Given the description of an element on the screen output the (x, y) to click on. 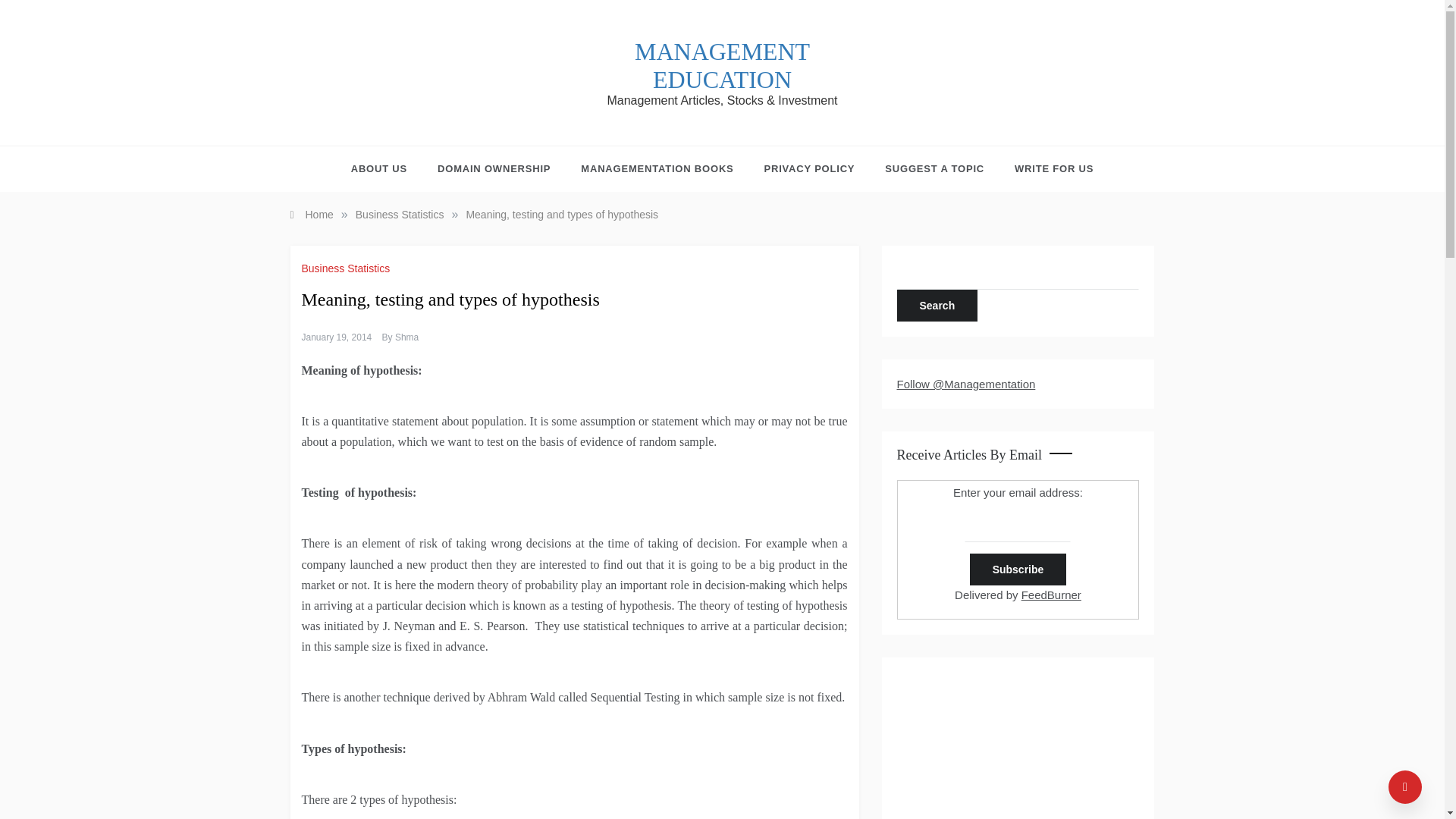
Go to Top (1405, 786)
MANAGEMENTATION BOOKS (657, 168)
Business Statistics (399, 214)
FeedBurner (1051, 594)
ABOUT US (386, 168)
SUGGEST A TOPIC (933, 168)
Search (936, 305)
Subscribe (1018, 569)
Business Statistics (347, 268)
Search (936, 305)
